Given the description of an element on the screen output the (x, y) to click on. 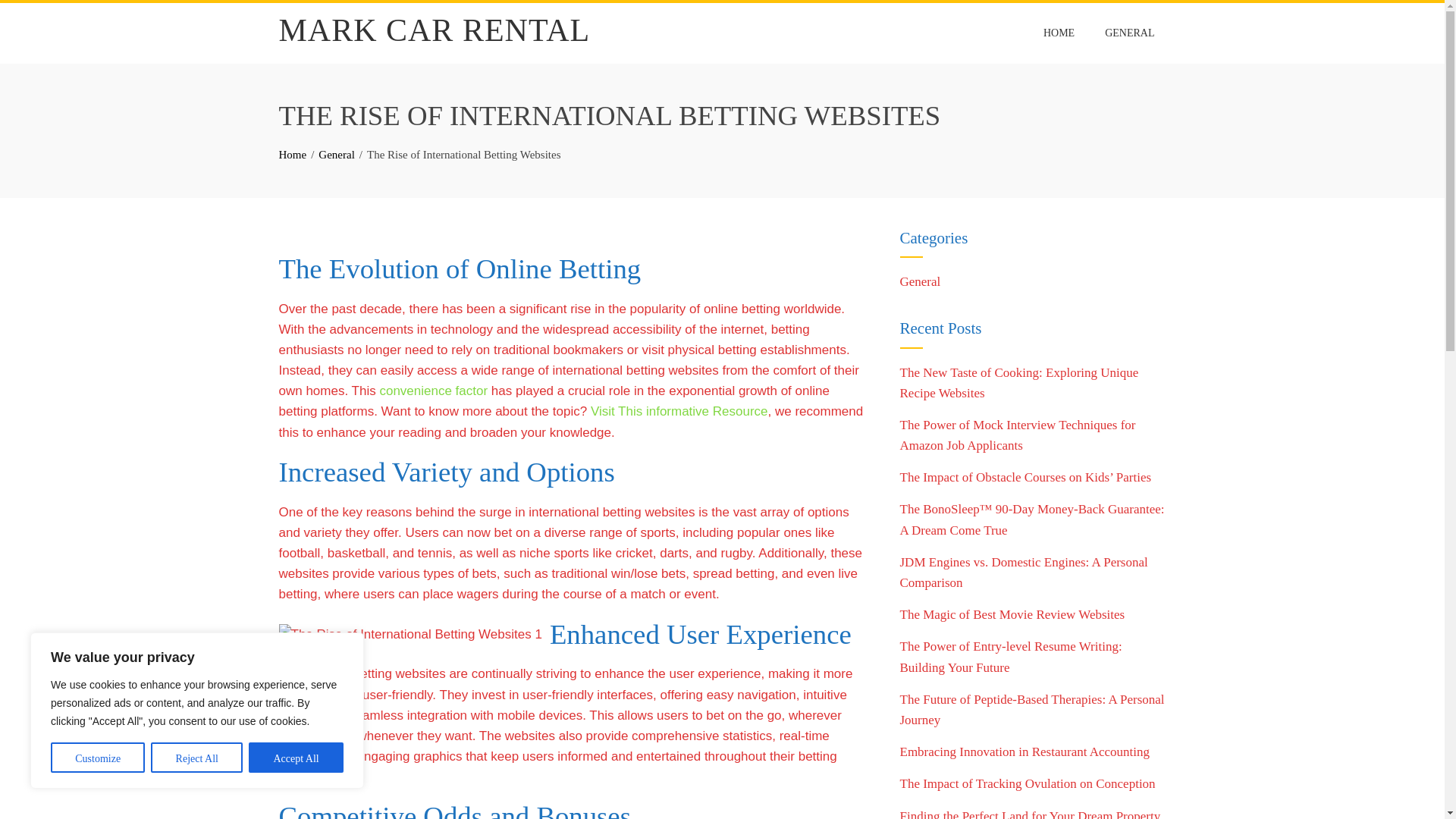
The Future of Peptide-Based Therapies: A Personal Journey (1031, 709)
GENERAL (1129, 32)
JDM Engines vs. Domestic Engines: A Personal Comparison (1023, 572)
Customize (97, 757)
Reject All (197, 757)
The New Taste of Cooking: Exploring Unique Recipe Websites (1018, 382)
The Impact of Tracking Ovulation on Conception (1026, 783)
General (335, 154)
MARK CAR RENTAL (435, 30)
